Given the description of an element on the screen output the (x, y) to click on. 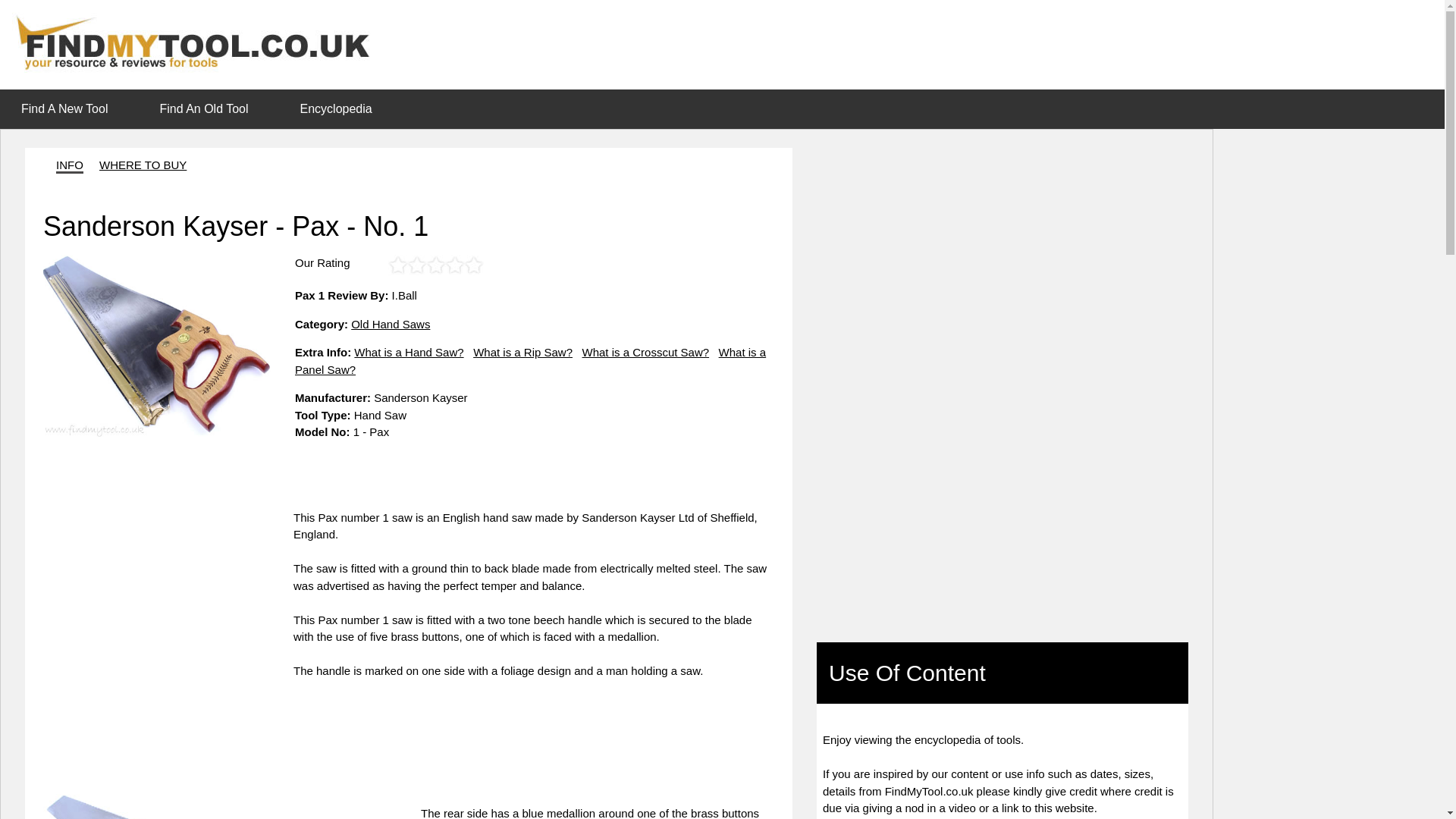
Find A New Tool (63, 109)
find my tool (199, 42)
Find An Old Tool (208, 108)
Find A New Tool (69, 108)
Find An Old Tool (203, 109)
find a new tool (63, 109)
